Given the description of an element on the screen output the (x, y) to click on. 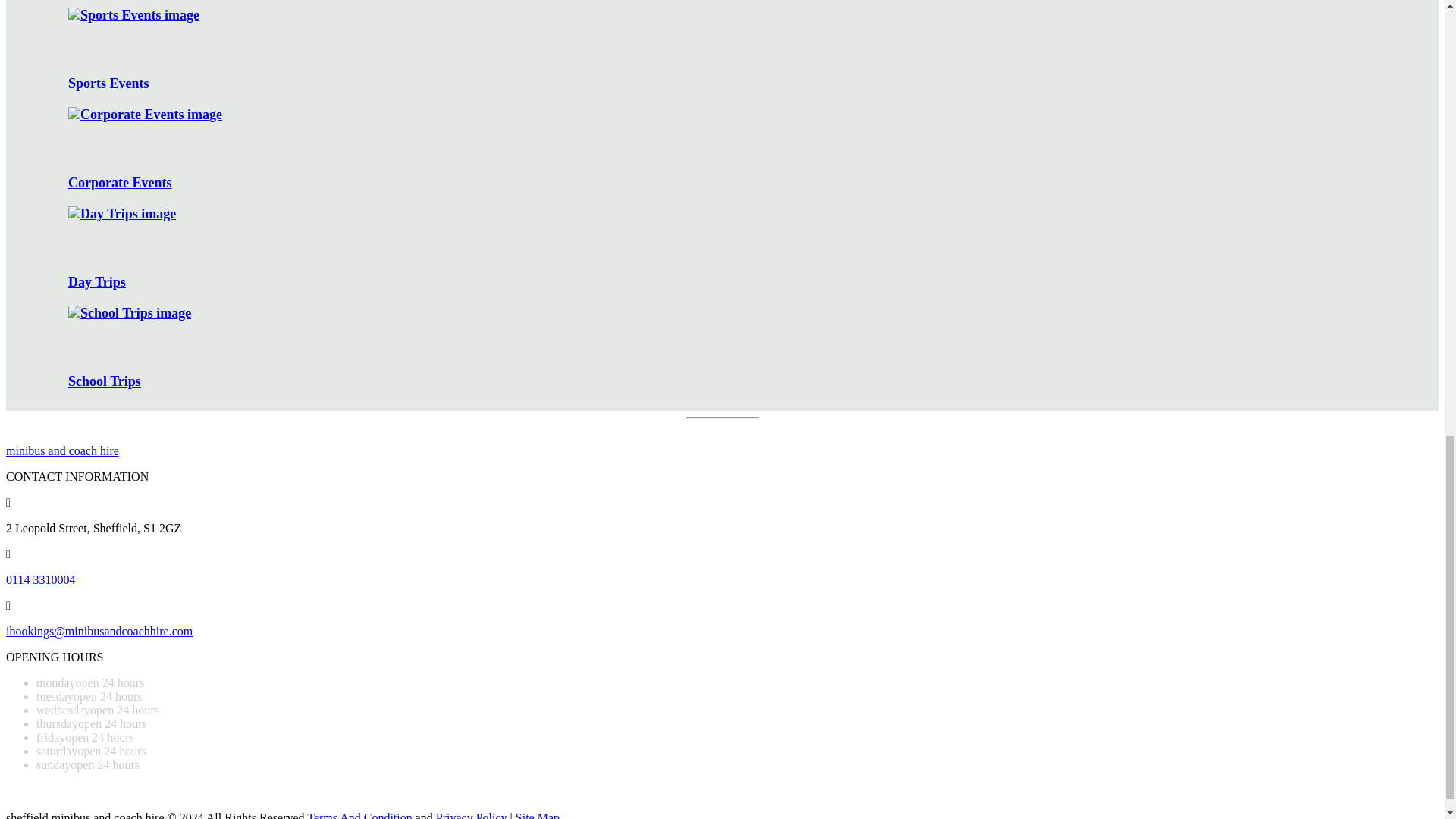
School Trips image (129, 313)
Day Trips image (122, 213)
minibus and coach hire (62, 450)
Sports Events image (133, 15)
Day Trips (737, 248)
School Trips (737, 347)
Corporate Events (737, 148)
Sports Events (737, 49)
0114 3310004 (40, 579)
Corporate Events image (145, 114)
